Given the description of an element on the screen output the (x, y) to click on. 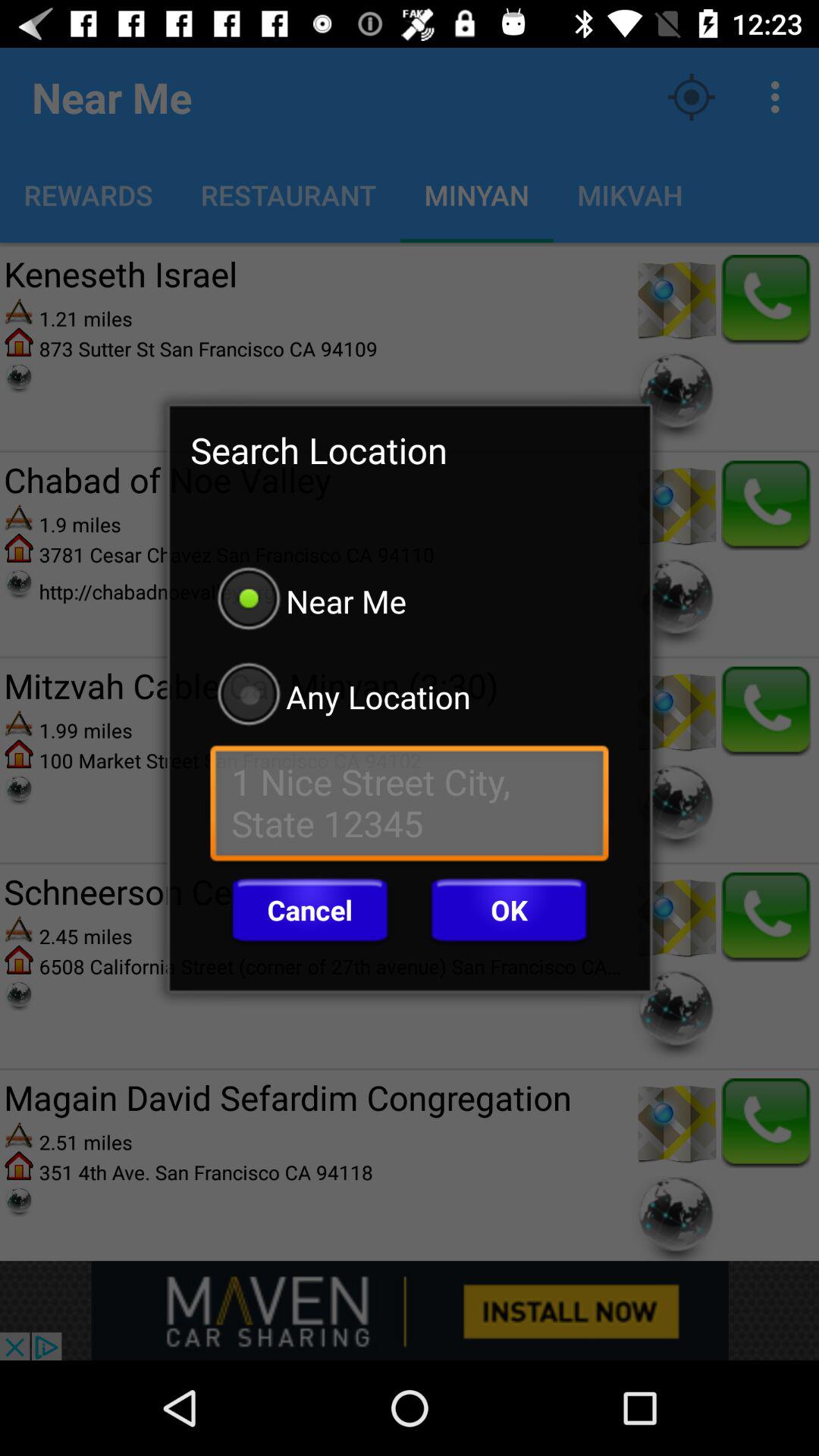
select ok item (508, 909)
